Given the description of an element on the screen output the (x, y) to click on. 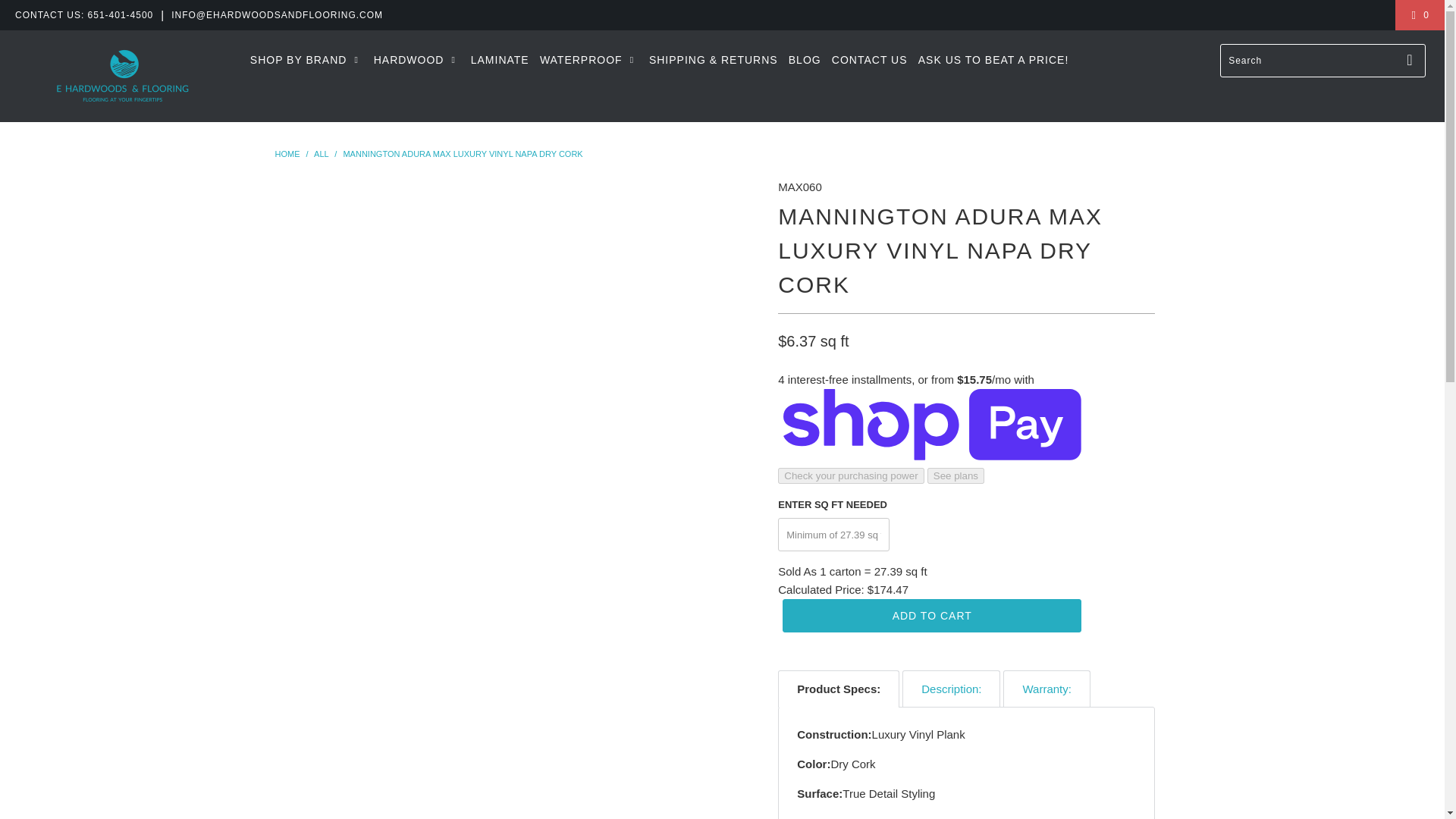
Email Us Today (276, 15)
All (322, 153)
SHOP BY BRAND (306, 59)
CONTACT US: 651-401-4500 (83, 15)
